Given the description of an element on the screen output the (x, y) to click on. 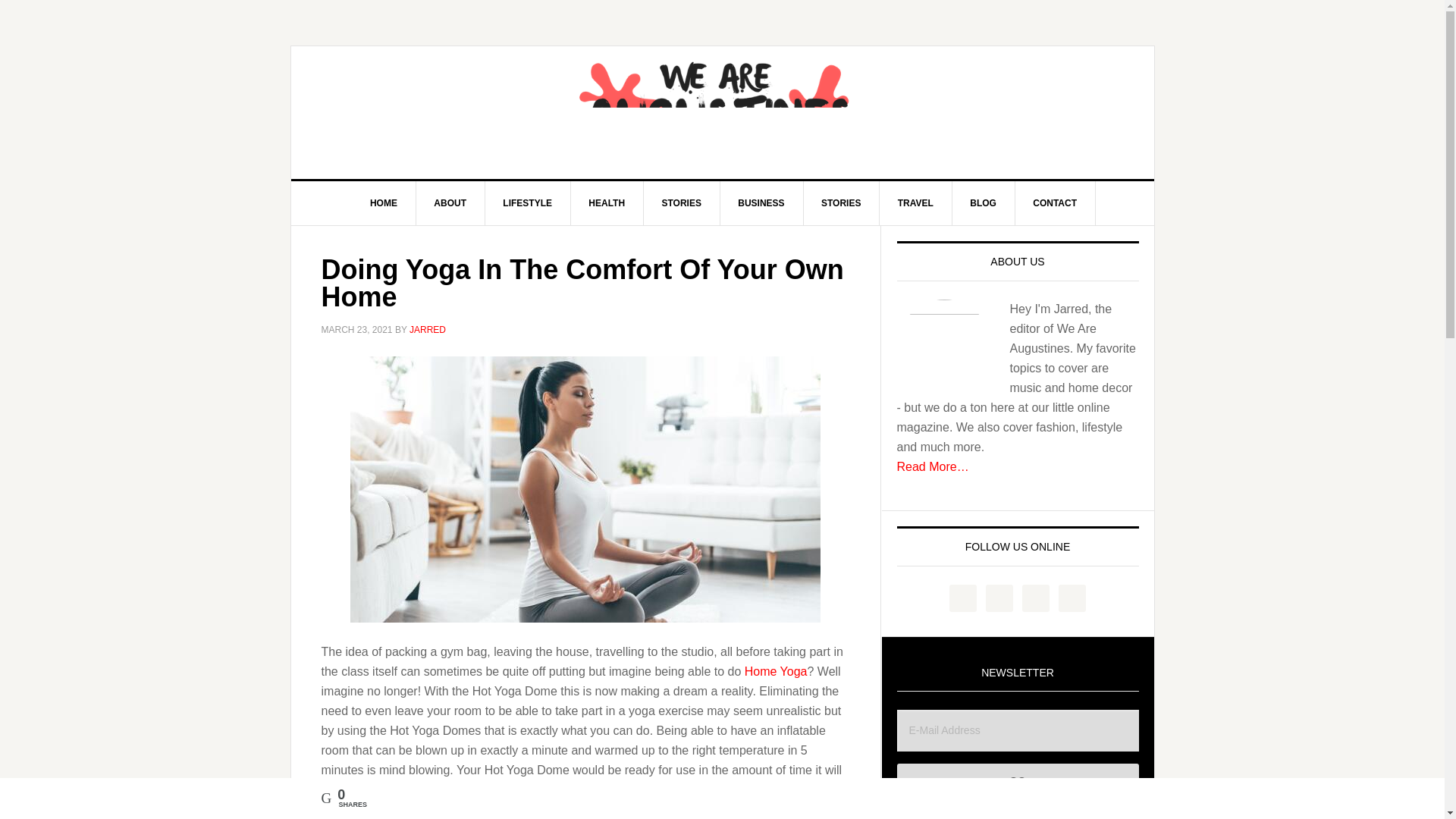
WE ARE AUGUSTINES (722, 112)
BUSINESS (761, 202)
Go (1017, 780)
ABOUT (449, 202)
JARRED (427, 329)
HEALTH (606, 202)
TRAVEL (915, 202)
STORIES (841, 202)
Home Yoga (776, 670)
LIFESTYLE (527, 202)
